Given the description of an element on the screen output the (x, y) to click on. 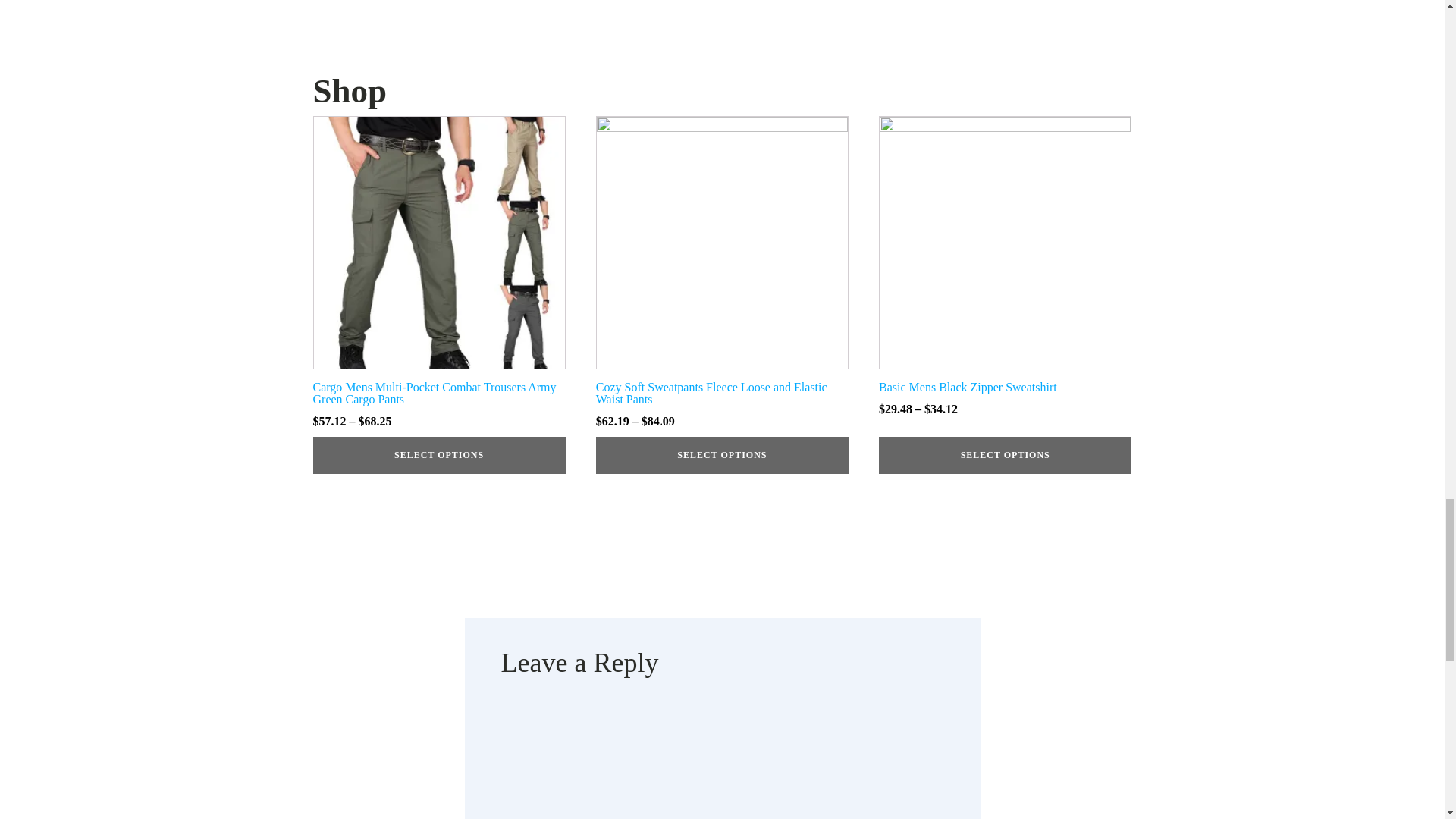
Comment Form (721, 762)
SELECT OPTIONS (438, 454)
SELECT OPTIONS (721, 454)
SELECT OPTIONS (1005, 454)
